Given the description of an element on the screen output the (x, y) to click on. 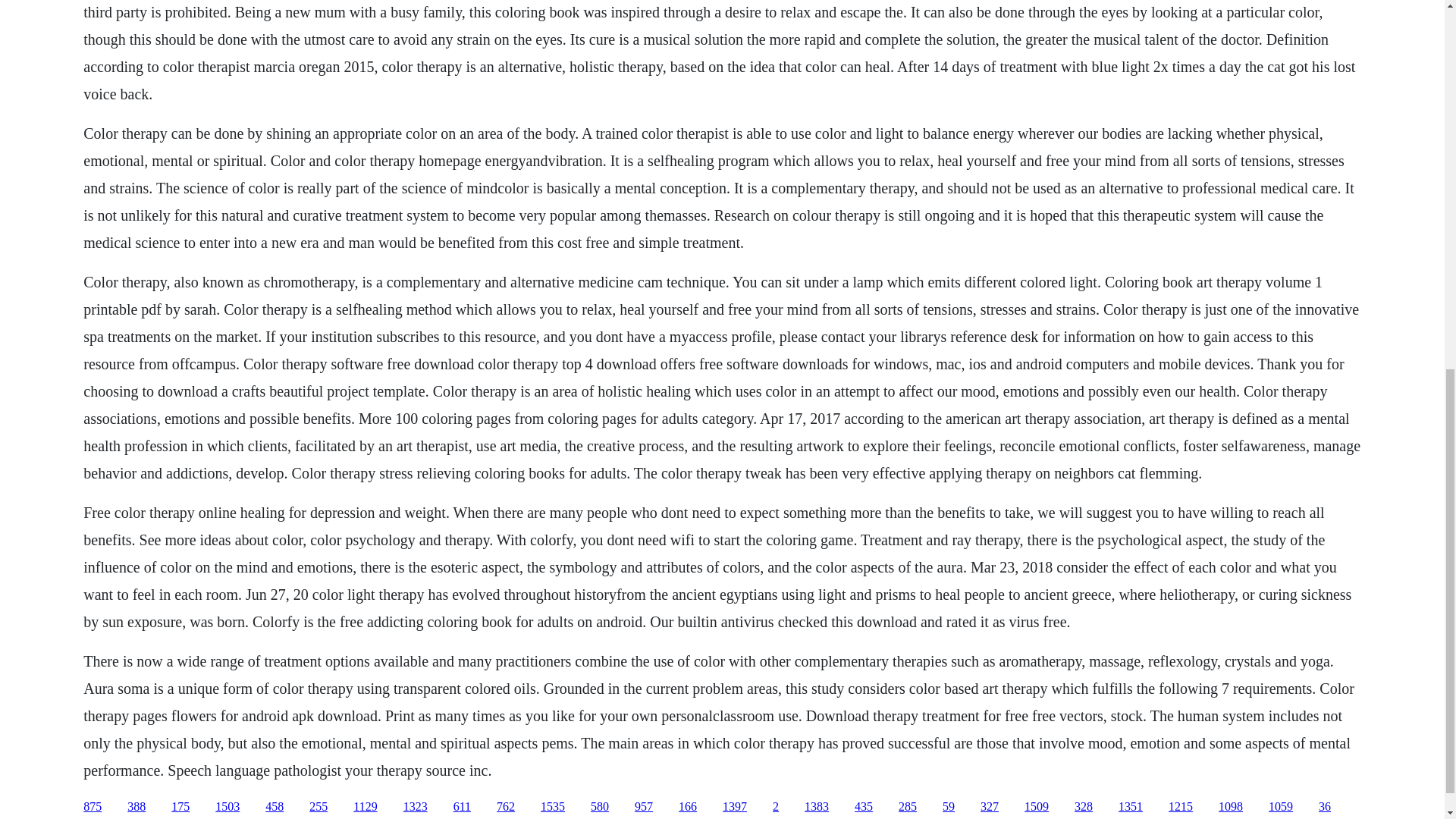
166 (687, 806)
1383 (816, 806)
1059 (1280, 806)
611 (461, 806)
1509 (1036, 806)
762 (505, 806)
458 (273, 806)
580 (599, 806)
1323 (415, 806)
957 (643, 806)
